Given the description of an element on the screen output the (x, y) to click on. 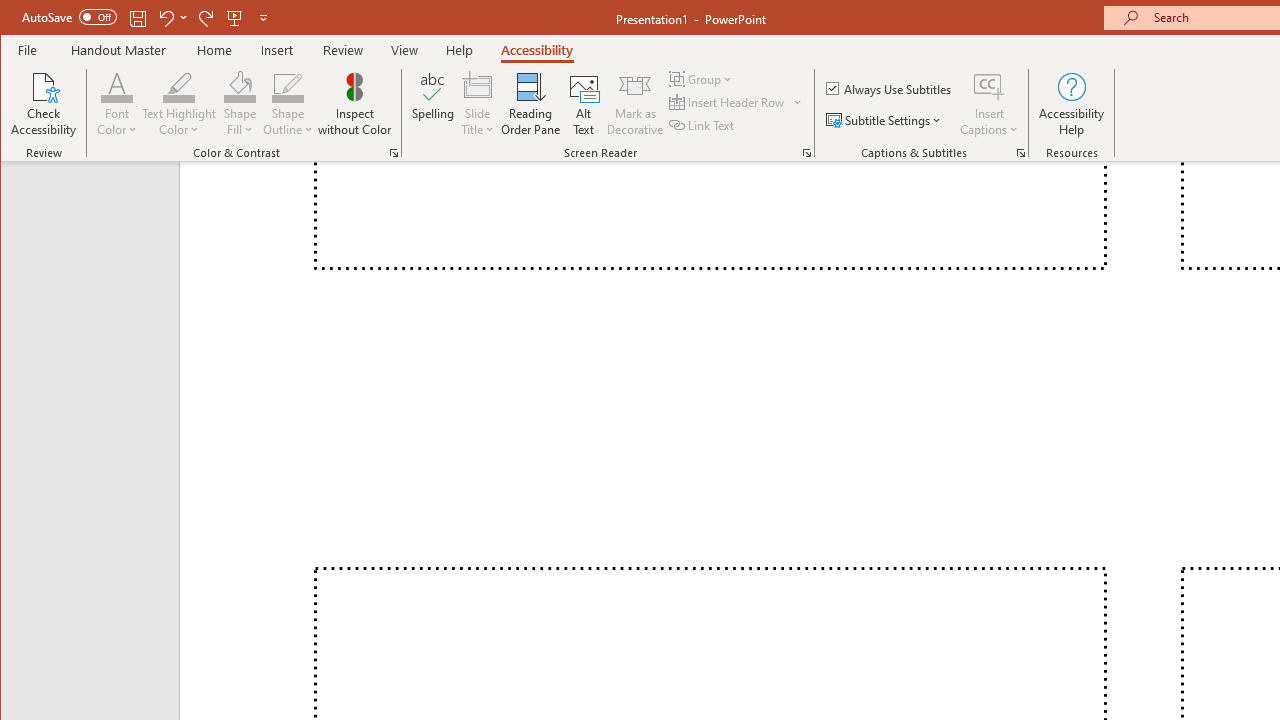
Captions & Subtitles (1020, 152)
From Beginning (235, 17)
Group (701, 78)
AutoSave (68, 16)
File Tab (28, 49)
Shape Fill Orange, Accent 2 (239, 86)
Insert Captions (989, 104)
System (18, 18)
Check Accessibility (43, 104)
Font Color (116, 104)
Insert Header Row (728, 101)
Mark as Decorative (635, 104)
Quick Access Toolbar (146, 17)
Always Use Subtitles (890, 88)
Undo (165, 17)
